Given the description of an element on the screen output the (x, y) to click on. 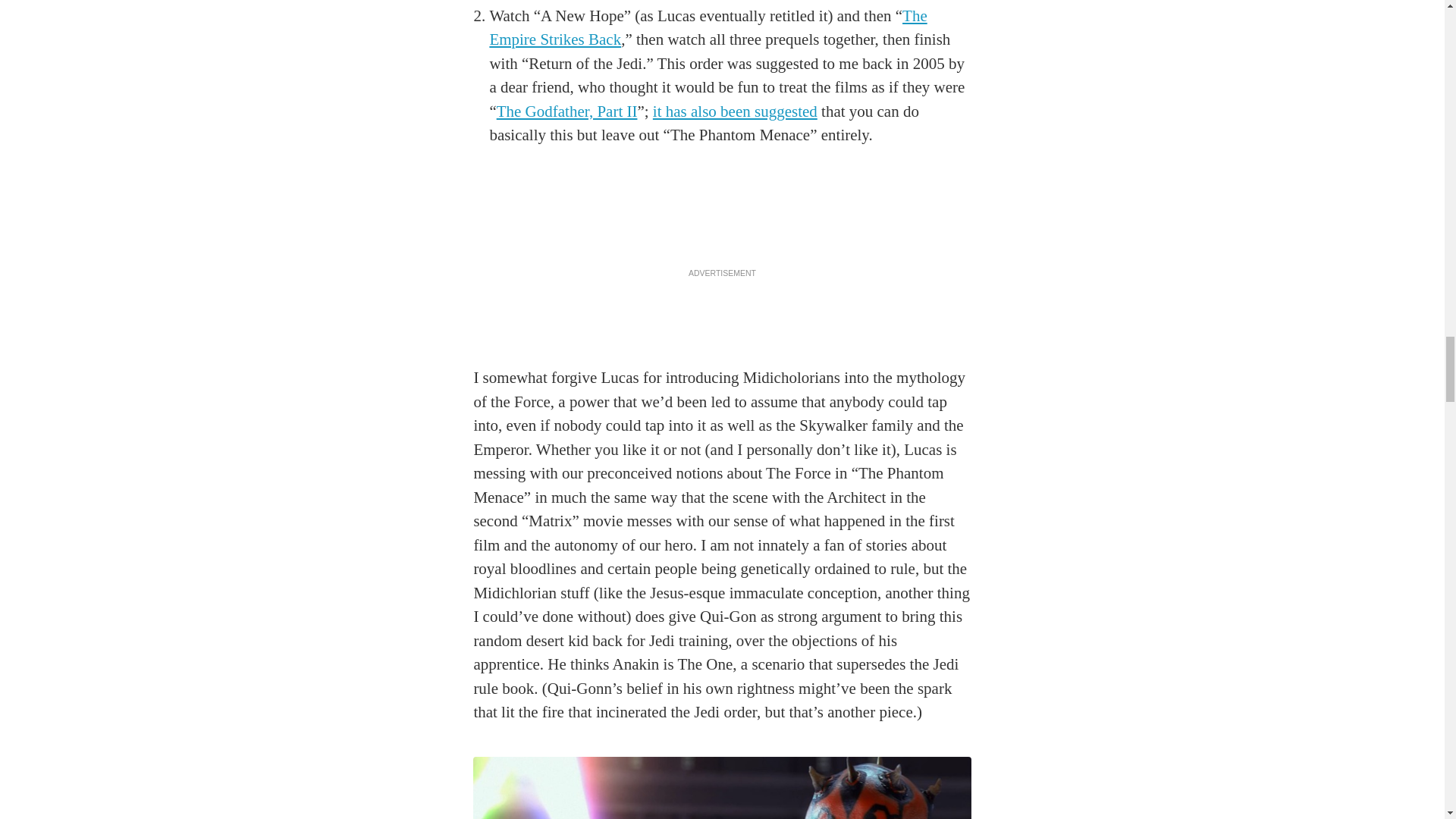
The Godfather, Part II (566, 111)
The Empire Strikes Back (707, 27)
it has also been suggested (734, 111)
